Given the description of an element on the screen output the (x, y) to click on. 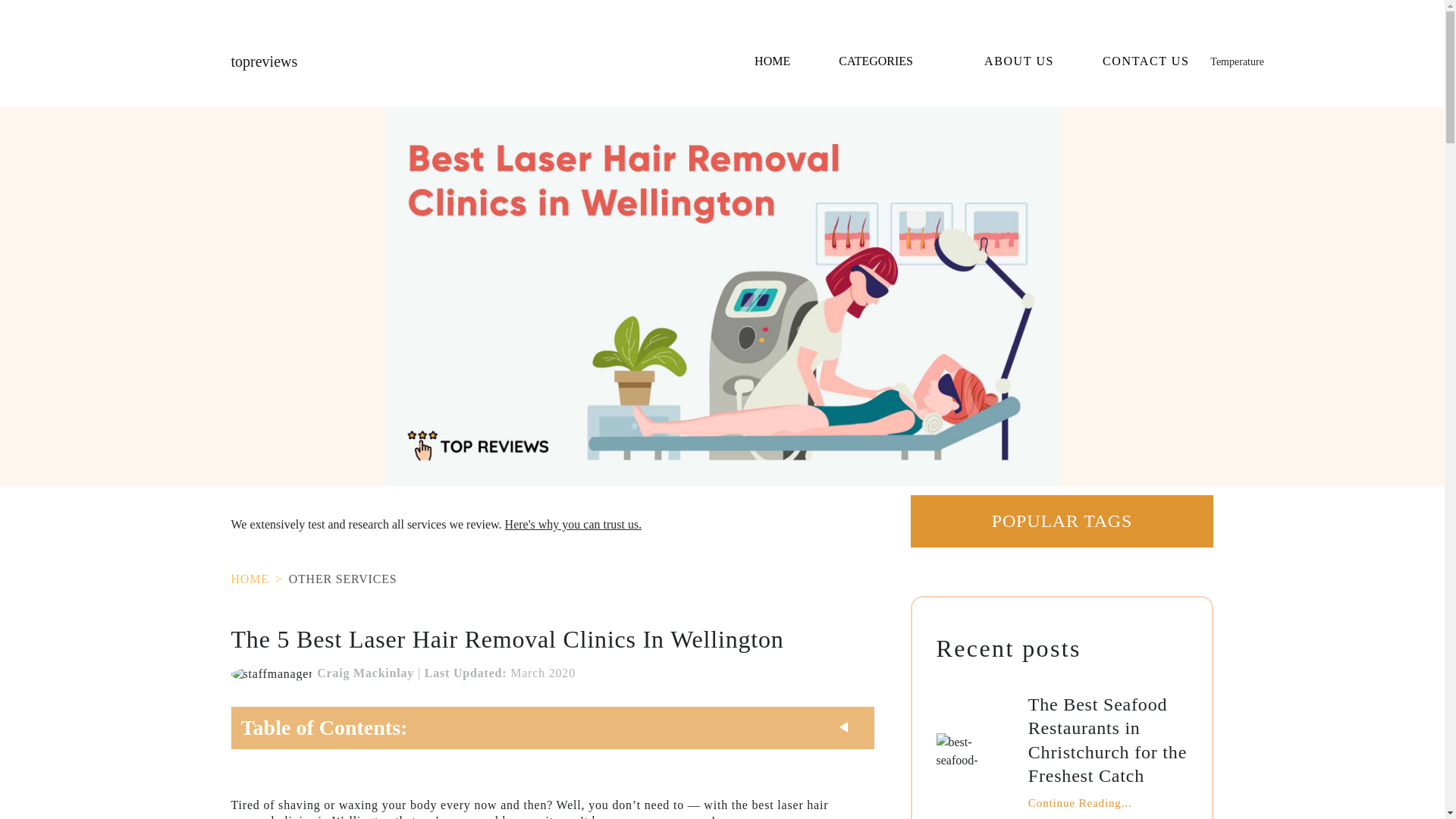
HOME (772, 60)
topreviews (263, 60)
Posts by Craig Mackinlay (365, 672)
CATEGORIES (887, 60)
View all posts by Craig Mackinlay (273, 672)
